Given the description of an element on the screen output the (x, y) to click on. 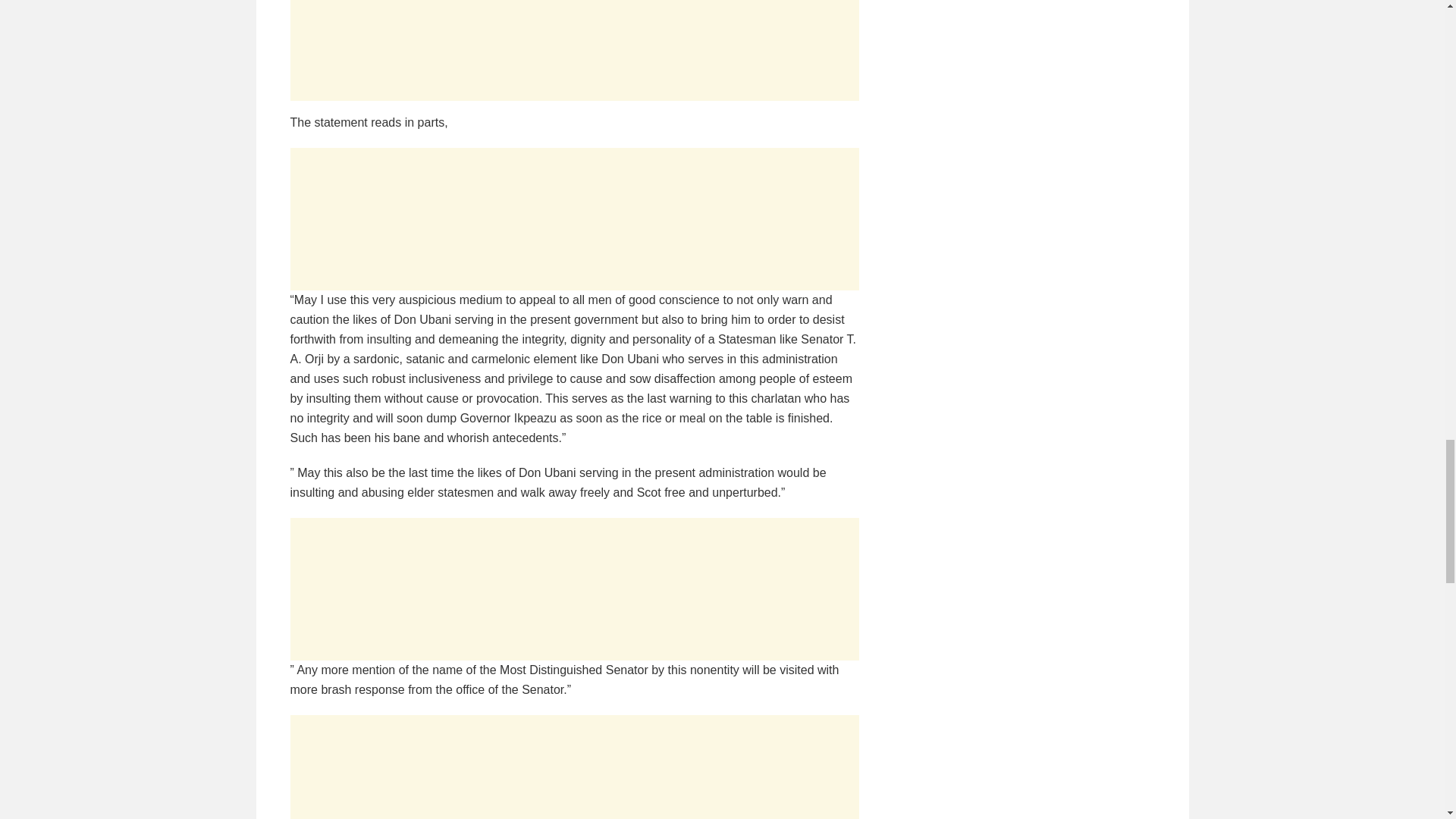
Advertisement (574, 219)
Advertisement (574, 588)
Advertisement (574, 50)
Advertisement (574, 766)
Advertisement (1023, 61)
